Given the description of an element on the screen output the (x, y) to click on. 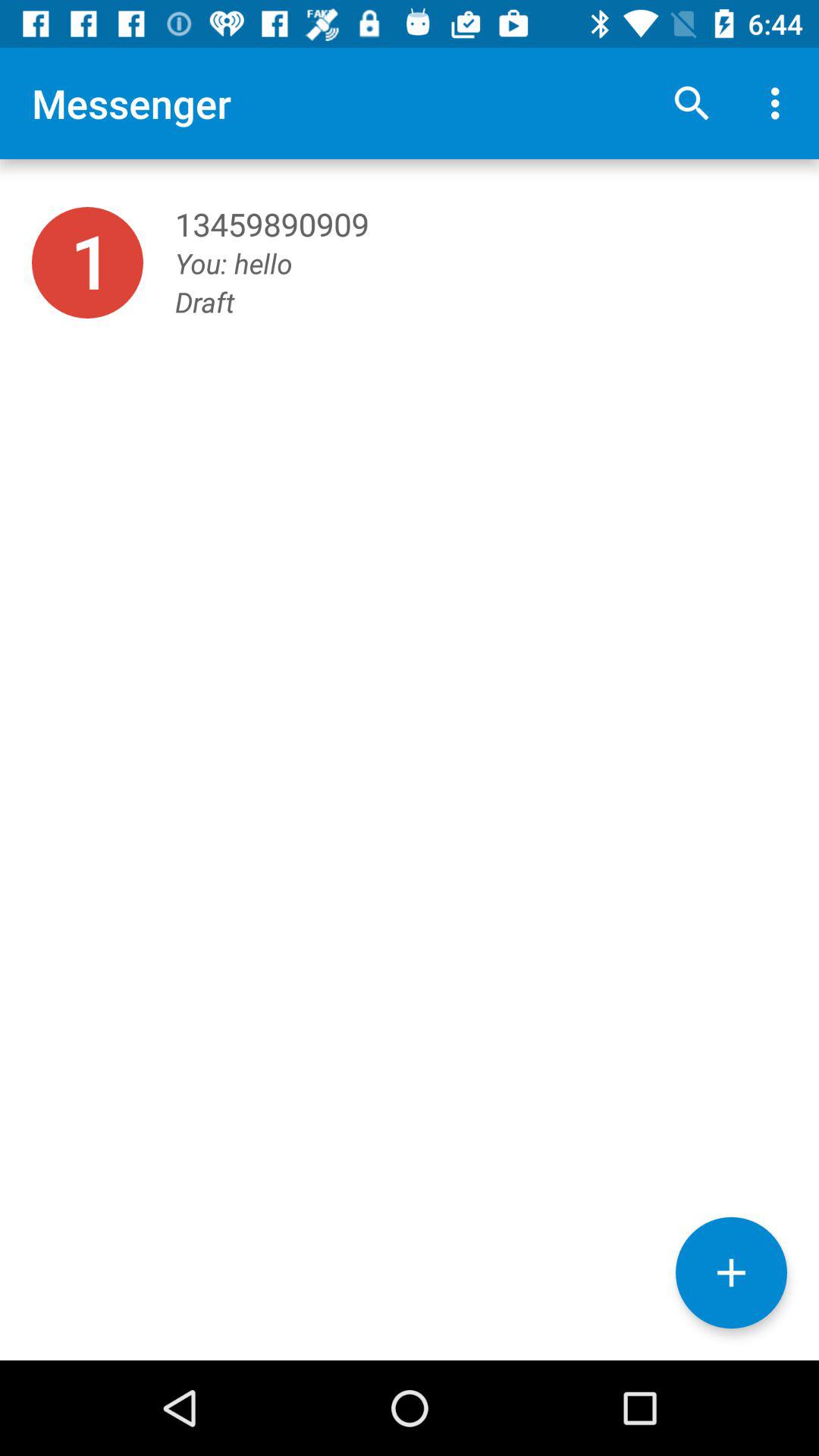
turn off app to the right of the messenger (691, 103)
